Given the description of an element on the screen output the (x, y) to click on. 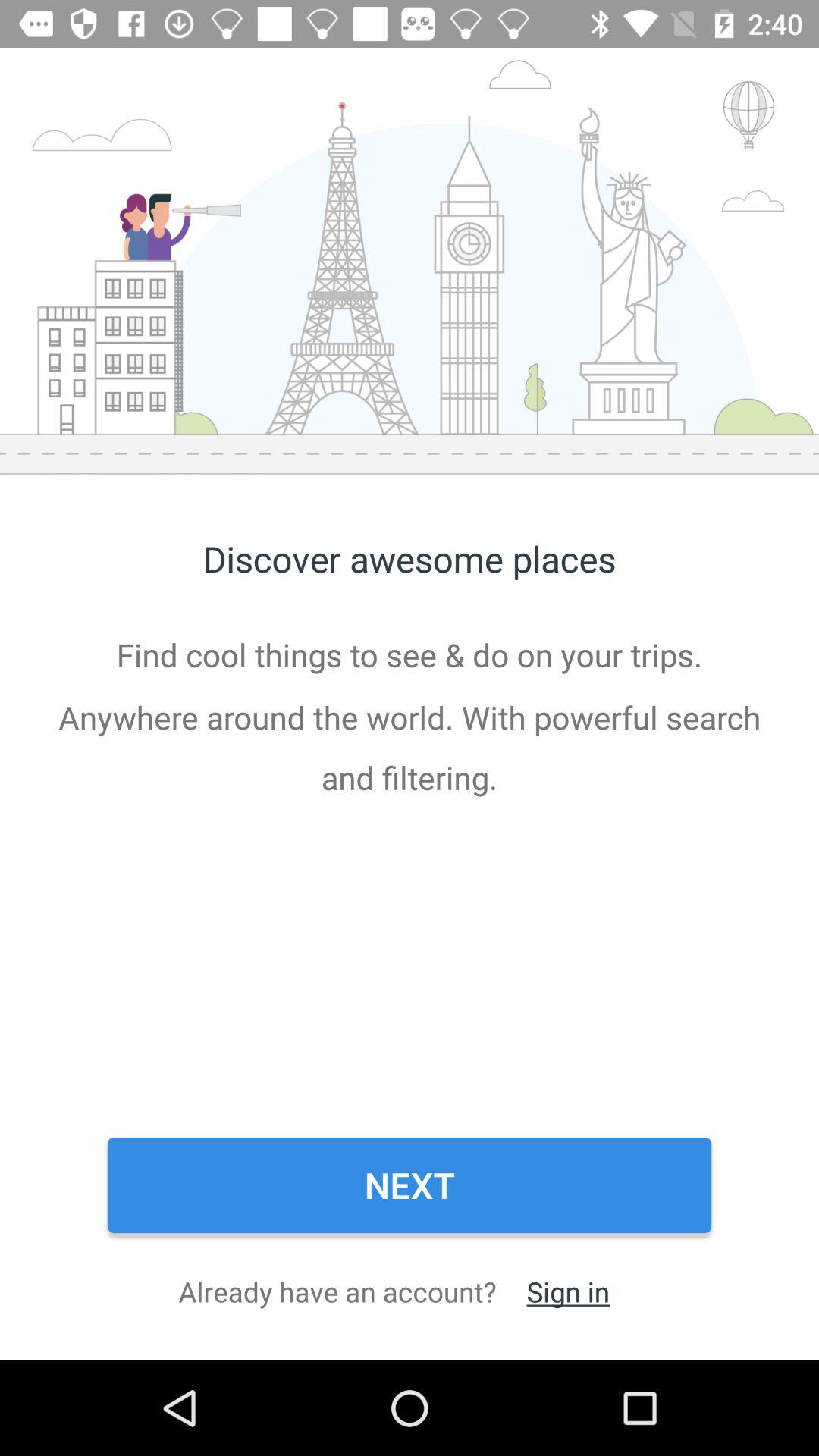
select sign in icon (567, 1291)
